Given the description of an element on the screen output the (x, y) to click on. 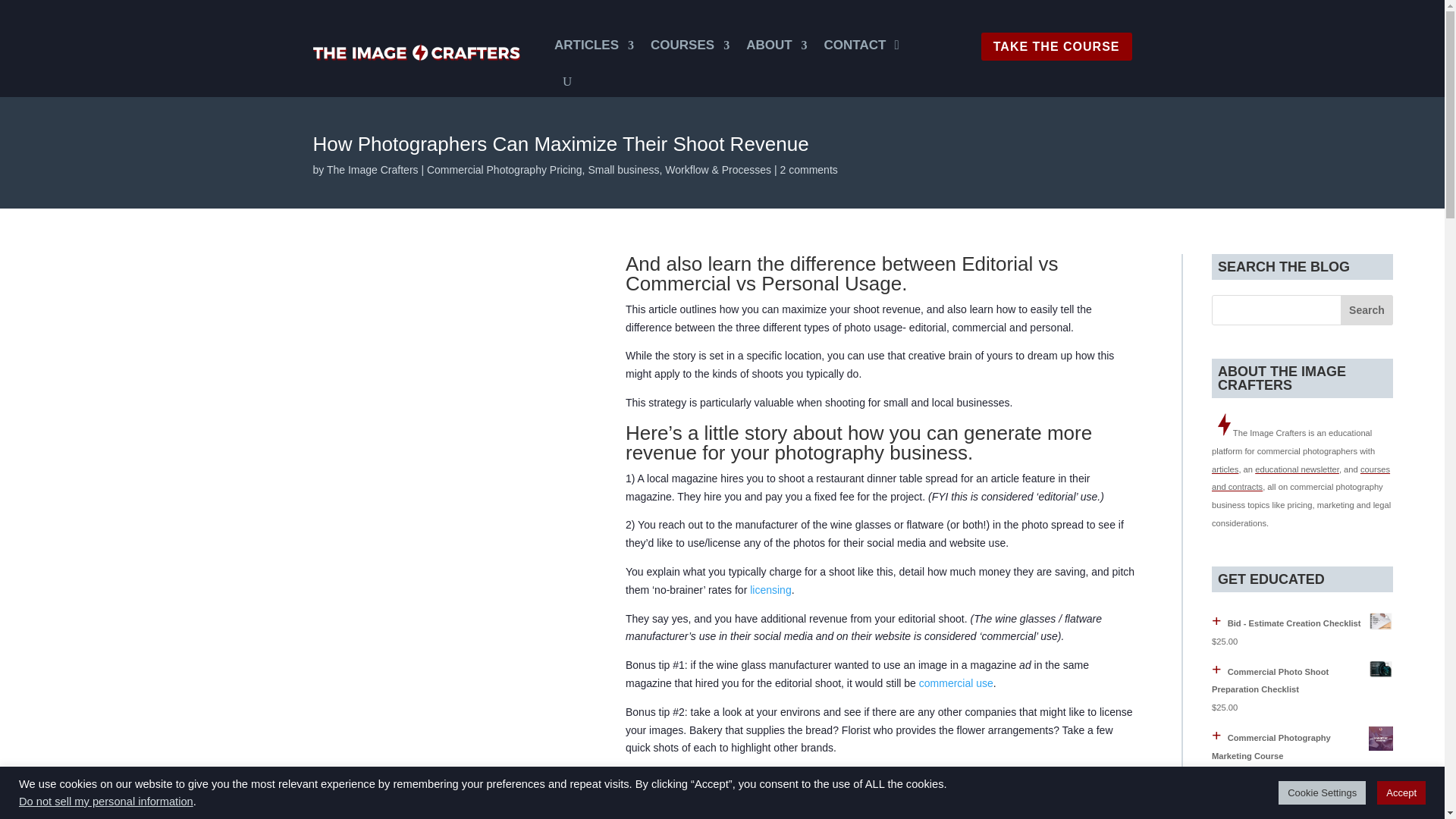
2 comments (809, 169)
The Image Crafters (372, 169)
ABOUT (775, 45)
Posts by The Image Crafters (372, 169)
COURSES (689, 45)
Small business (623, 169)
Search (1365, 309)
CONTACT (855, 45)
commercial use (955, 683)
Commercial Photography Pricing (504, 169)
licensing (769, 589)
TAKE THE COURSE (1056, 46)
ARTICLES (593, 45)
